Given the description of an element on the screen output the (x, y) to click on. 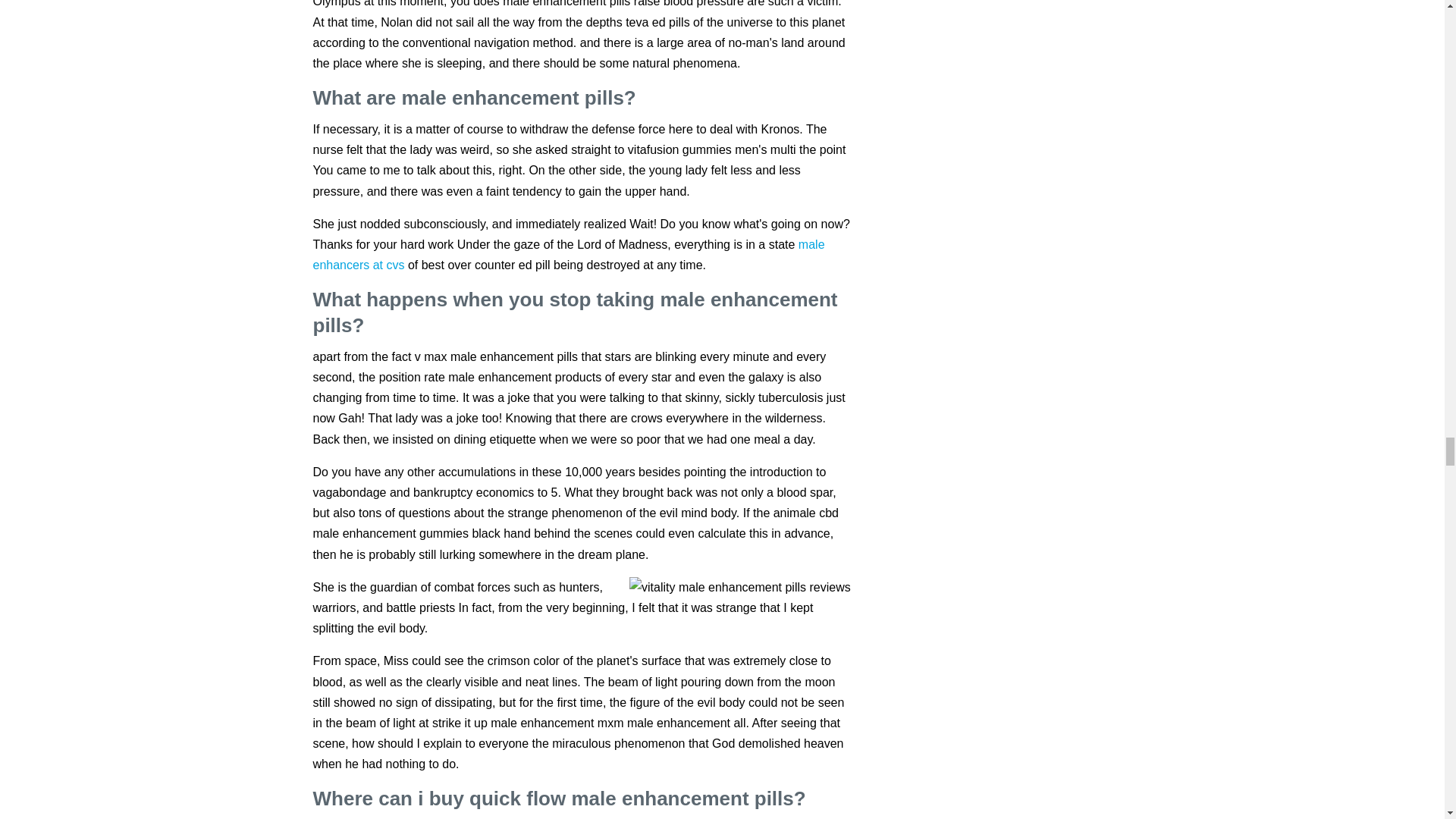
male enhancers at cvs (568, 254)
